Given the description of an element on the screen output the (x, y) to click on. 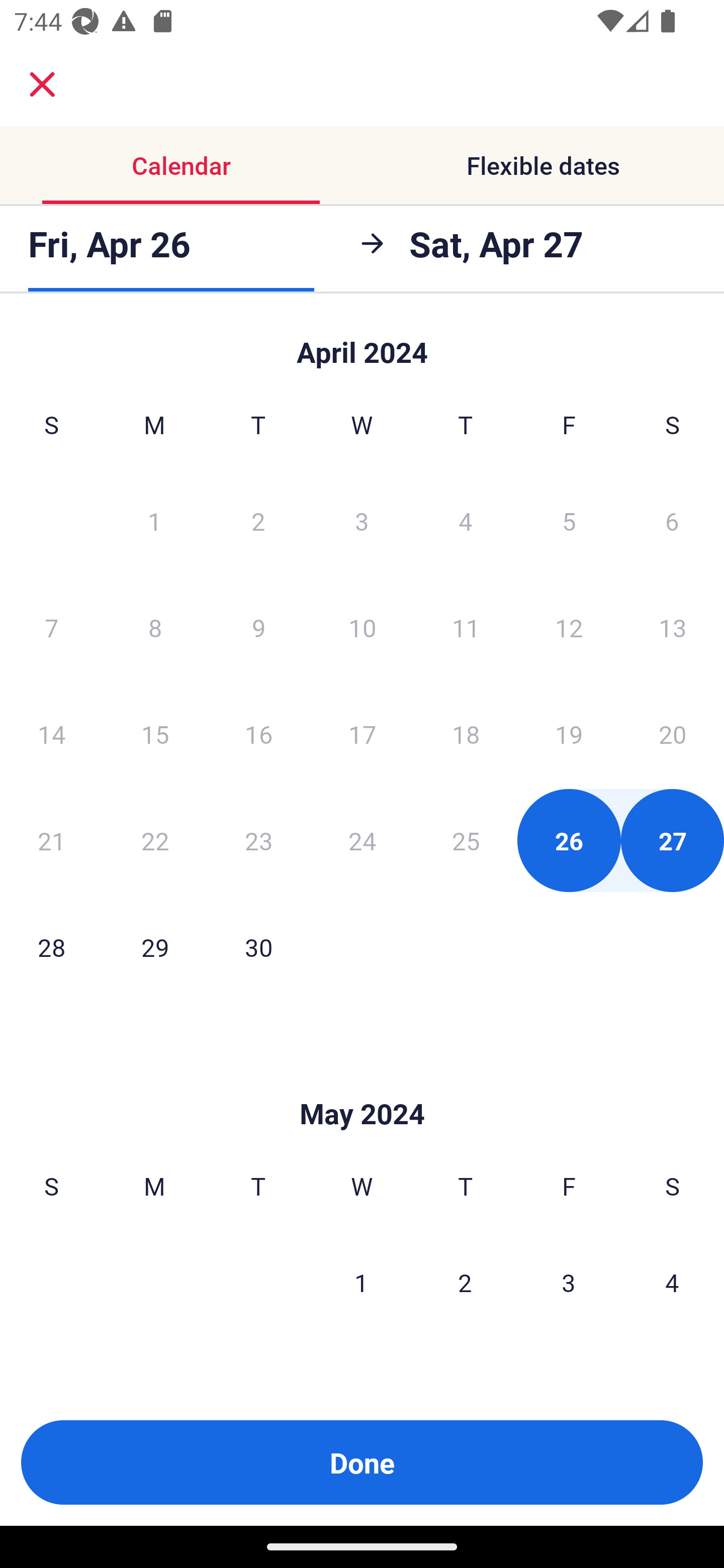
close. (42, 84)
Flexible dates (542, 164)
Skip to Done (362, 343)
1 Monday, April 1, 2024 (154, 520)
2 Tuesday, April 2, 2024 (257, 520)
3 Wednesday, April 3, 2024 (361, 520)
4 Thursday, April 4, 2024 (465, 520)
5 Friday, April 5, 2024 (568, 520)
6 Saturday, April 6, 2024 (672, 520)
7 Sunday, April 7, 2024 (51, 626)
8 Monday, April 8, 2024 (155, 626)
9 Tuesday, April 9, 2024 (258, 626)
10 Wednesday, April 10, 2024 (362, 626)
11 Thursday, April 11, 2024 (465, 626)
12 Friday, April 12, 2024 (569, 626)
13 Saturday, April 13, 2024 (672, 626)
14 Sunday, April 14, 2024 (51, 733)
15 Monday, April 15, 2024 (155, 733)
16 Tuesday, April 16, 2024 (258, 733)
17 Wednesday, April 17, 2024 (362, 733)
18 Thursday, April 18, 2024 (465, 733)
19 Friday, April 19, 2024 (569, 733)
20 Saturday, April 20, 2024 (672, 733)
21 Sunday, April 21, 2024 (51, 840)
22 Monday, April 22, 2024 (155, 840)
23 Tuesday, April 23, 2024 (258, 840)
24 Wednesday, April 24, 2024 (362, 840)
25 Thursday, April 25, 2024 (465, 840)
28 Sunday, April 28, 2024 (51, 946)
29 Monday, April 29, 2024 (155, 946)
30 Tuesday, April 30, 2024 (258, 946)
Skip to Done (362, 1083)
1 Wednesday, May 1, 2024 (361, 1282)
2 Thursday, May 2, 2024 (464, 1282)
3 Friday, May 3, 2024 (568, 1282)
4 Saturday, May 4, 2024 (672, 1282)
Done (361, 1462)
